Given the description of an element on the screen output the (x, y) to click on. 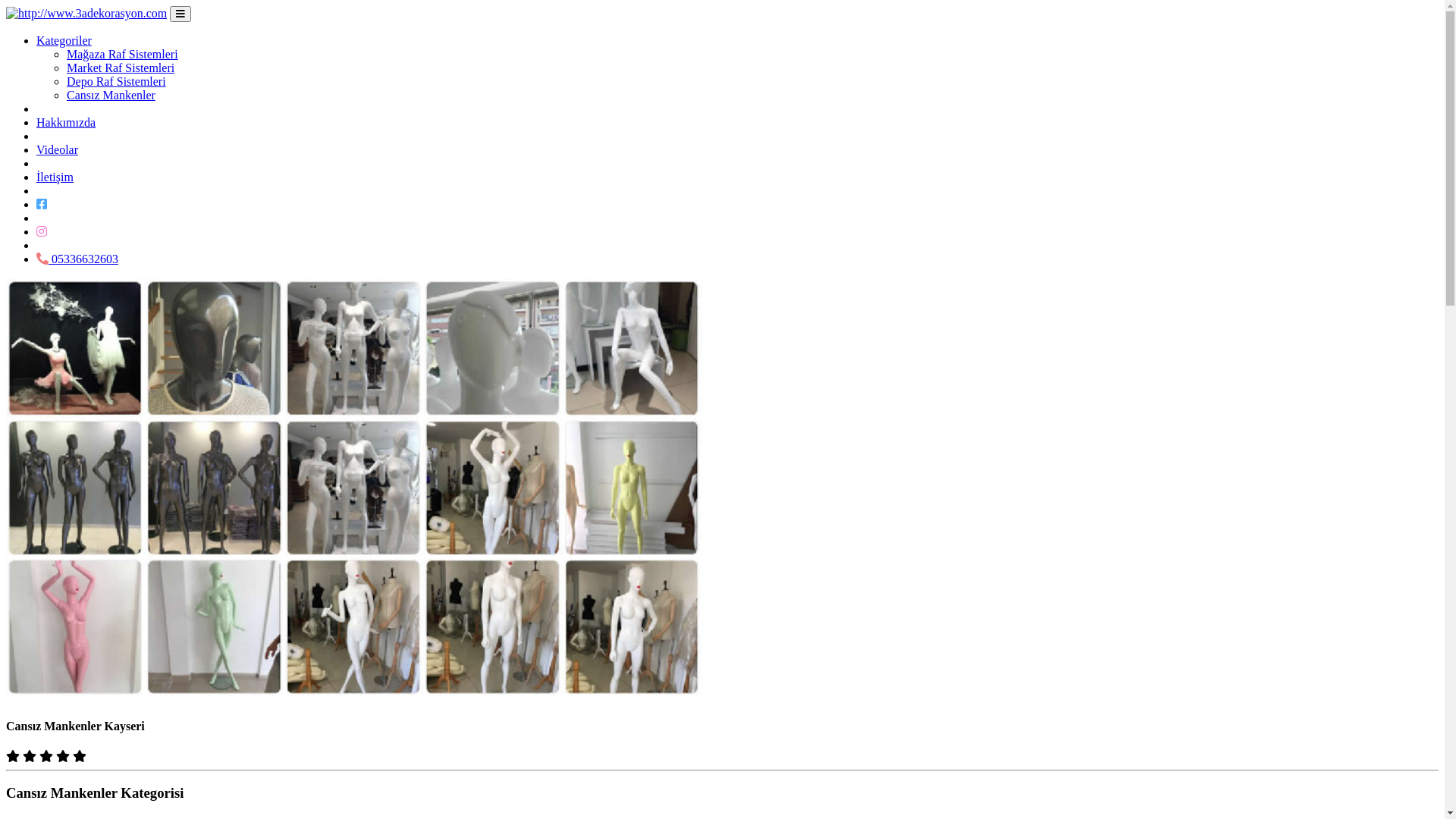
Market Raf Sistemleri Element type: text (120, 67)
05336632603 Element type: text (77, 258)
Videolar Element type: text (57, 149)
Depo Raf Sistemleri Element type: text (116, 81)
cansiz-mankenler-kayseri Element type: hover (354, 489)
Kategoriler Element type: text (63, 40)
